Given the description of an element on the screen output the (x, y) to click on. 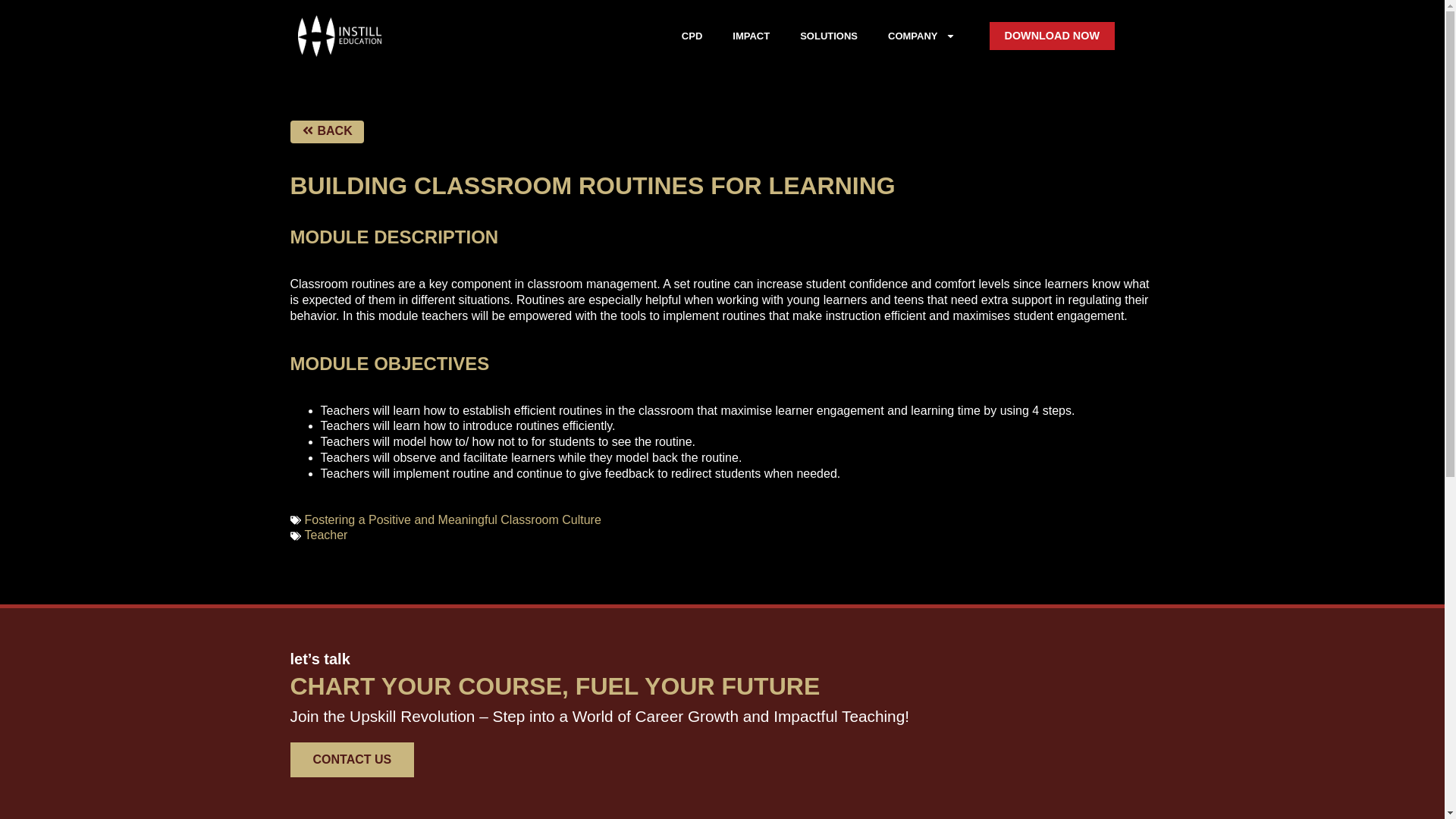
Teacher (325, 534)
IMPACT (750, 36)
SOLUTIONS (828, 36)
BACK (325, 131)
CPD (691, 36)
Fostering a Positive and Meaningful Classroom Culture (452, 519)
DOWNLOAD NOW (1051, 35)
CONTACT US (351, 759)
COMPANY (920, 36)
